Given the description of an element on the screen output the (x, y) to click on. 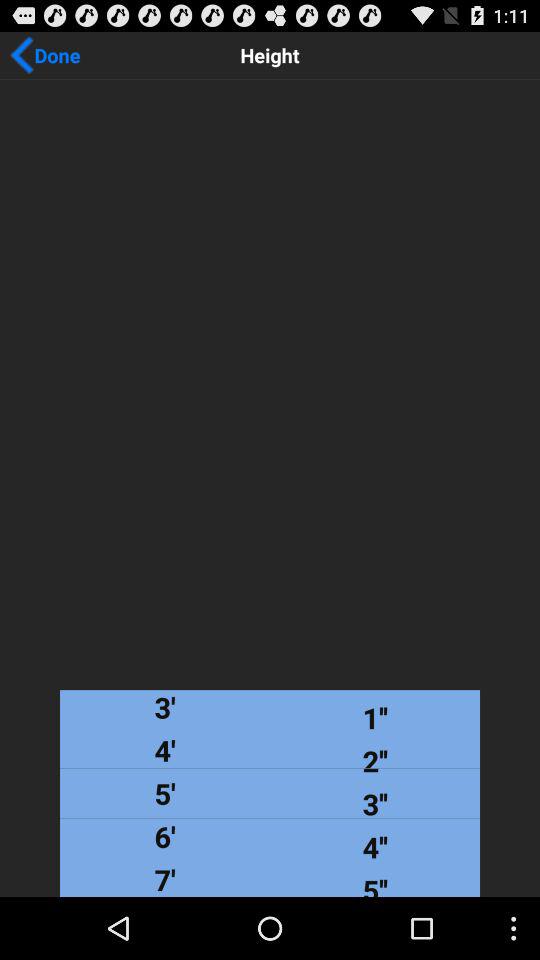
flip until the done app (45, 55)
